Given the description of an element on the screen output the (x, y) to click on. 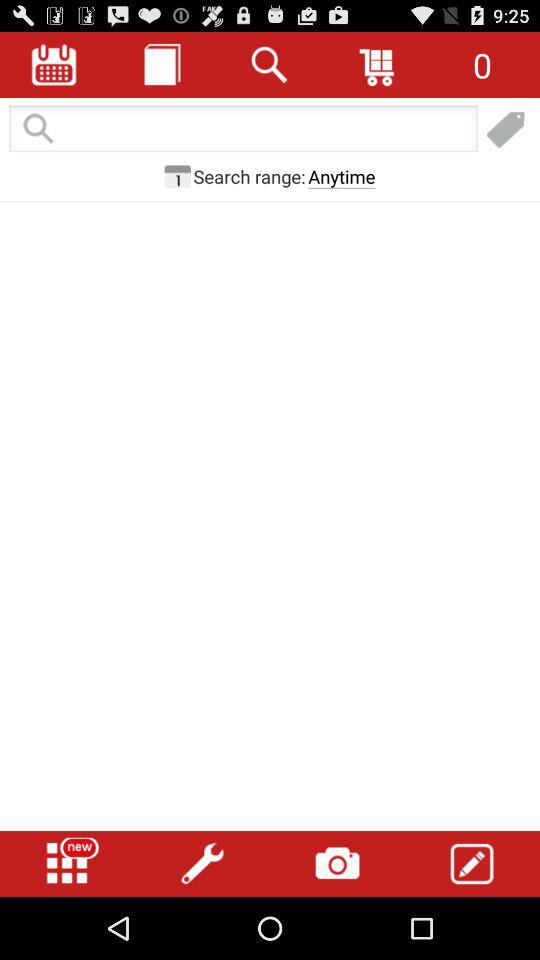
add a journal entry (161, 64)
